Given the description of an element on the screen output the (x, y) to click on. 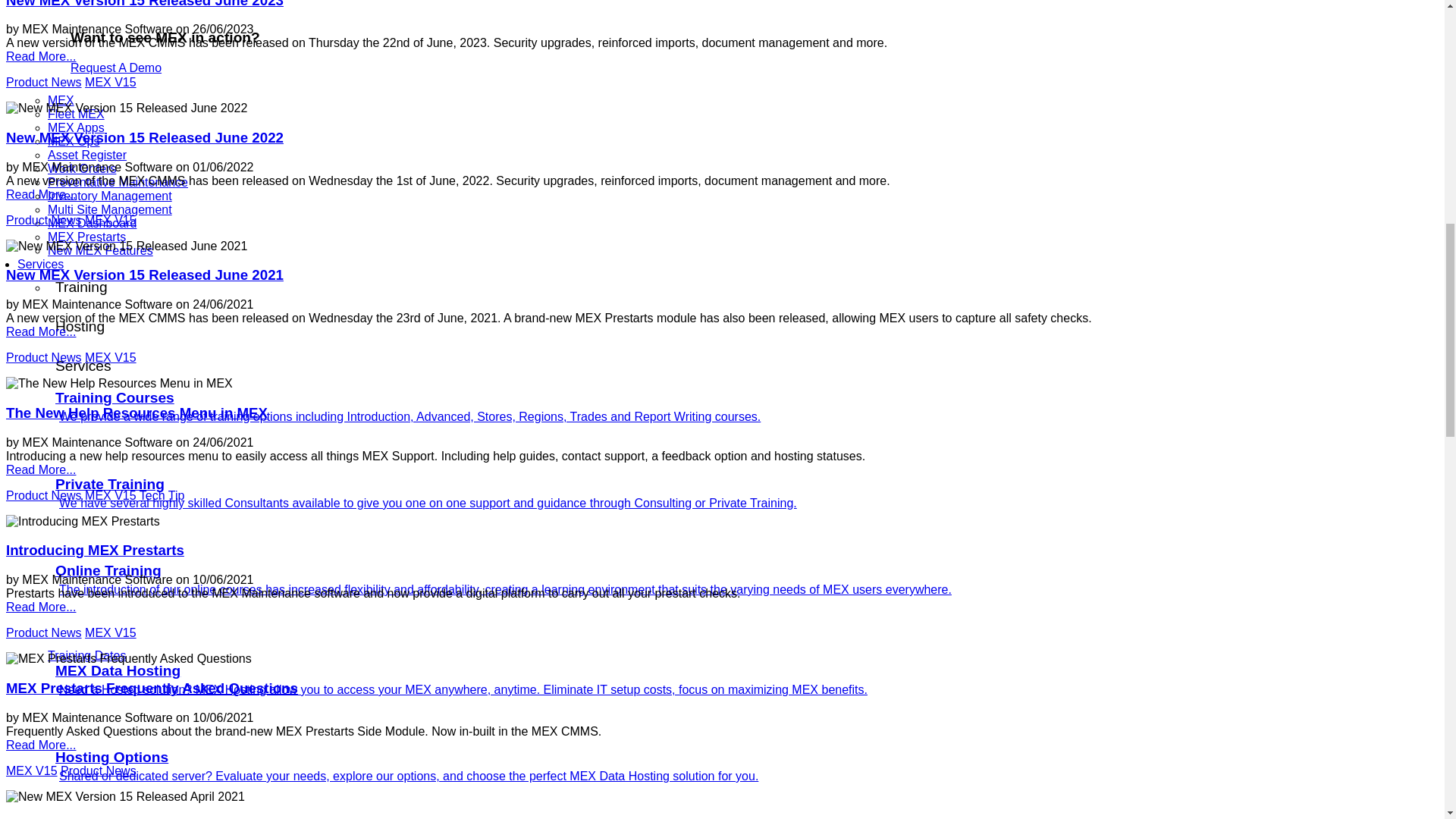
MEX Apps (76, 127)
Request A Demo (115, 67)
MEX Ops (73, 141)
MEX (61, 100)
MEX Dashboard (92, 223)
Fleet MEX (76, 113)
Inventory Management (109, 195)
Multi Site Management (109, 209)
Preventative Maintenance (117, 182)
MEX Prestarts (86, 236)
Training Dates (86, 655)
New MEX Features (100, 250)
